Given the description of an element on the screen output the (x, y) to click on. 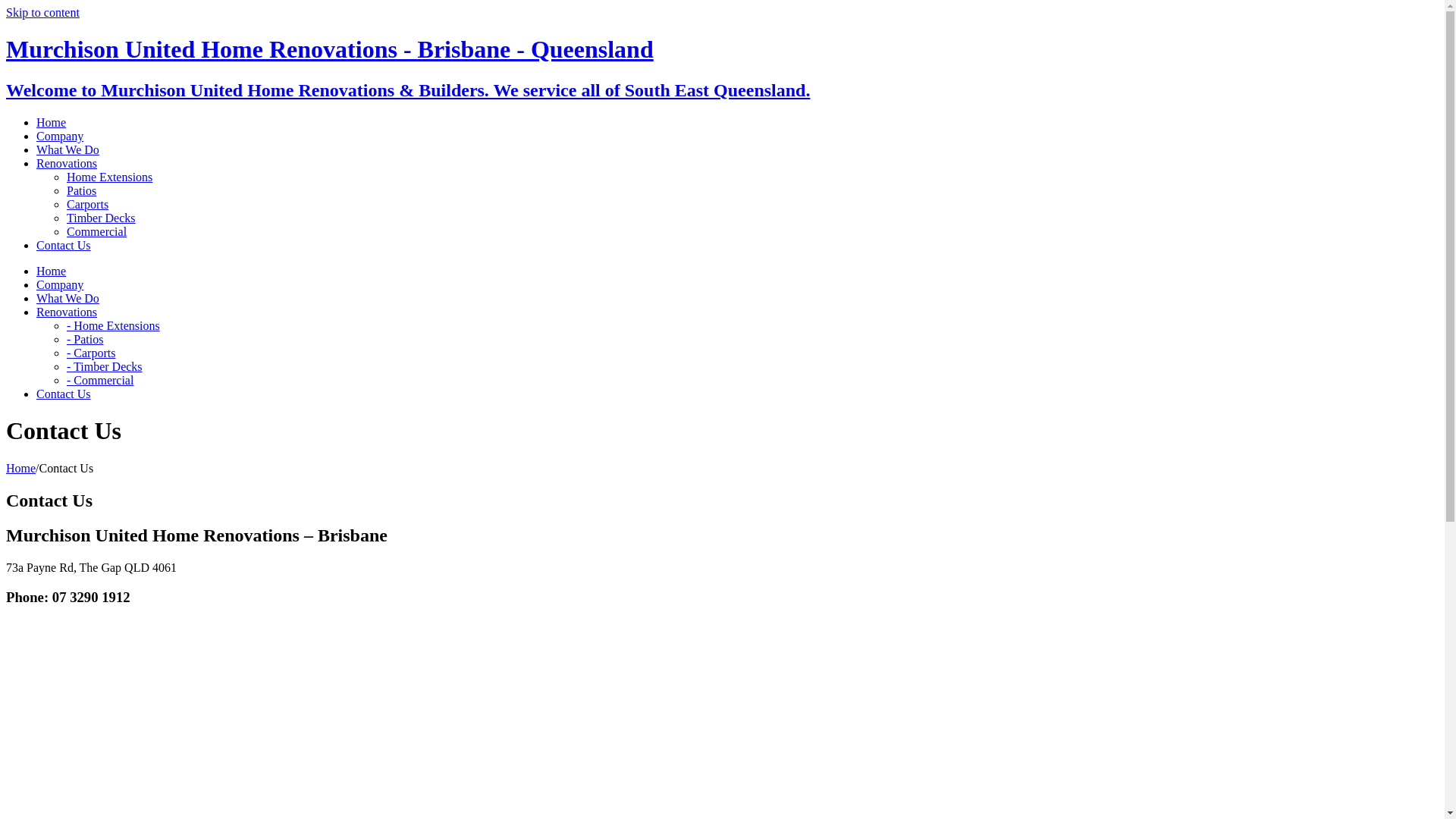
Contact Us Element type: text (63, 244)
- Carports Element type: text (90, 352)
Home Element type: text (50, 270)
- Commercial Element type: text (99, 379)
Home Element type: text (50, 122)
Skip to content Element type: text (42, 12)
What We Do Element type: text (67, 297)
What We Do Element type: text (67, 149)
Renovations Element type: text (66, 162)
Home Element type: text (20, 467)
- Patios Element type: text (84, 338)
Company Element type: text (59, 284)
Patios Element type: text (81, 190)
- Timber Decks Element type: text (104, 366)
Renovations Element type: text (66, 311)
Commercial Element type: text (96, 231)
Carports Element type: text (87, 203)
Company Element type: text (59, 135)
Home Extensions Element type: text (109, 176)
Timber Decks Element type: text (100, 217)
- Home Extensions Element type: text (113, 325)
Contact Us Element type: text (63, 393)
